Given the description of an element on the screen output the (x, y) to click on. 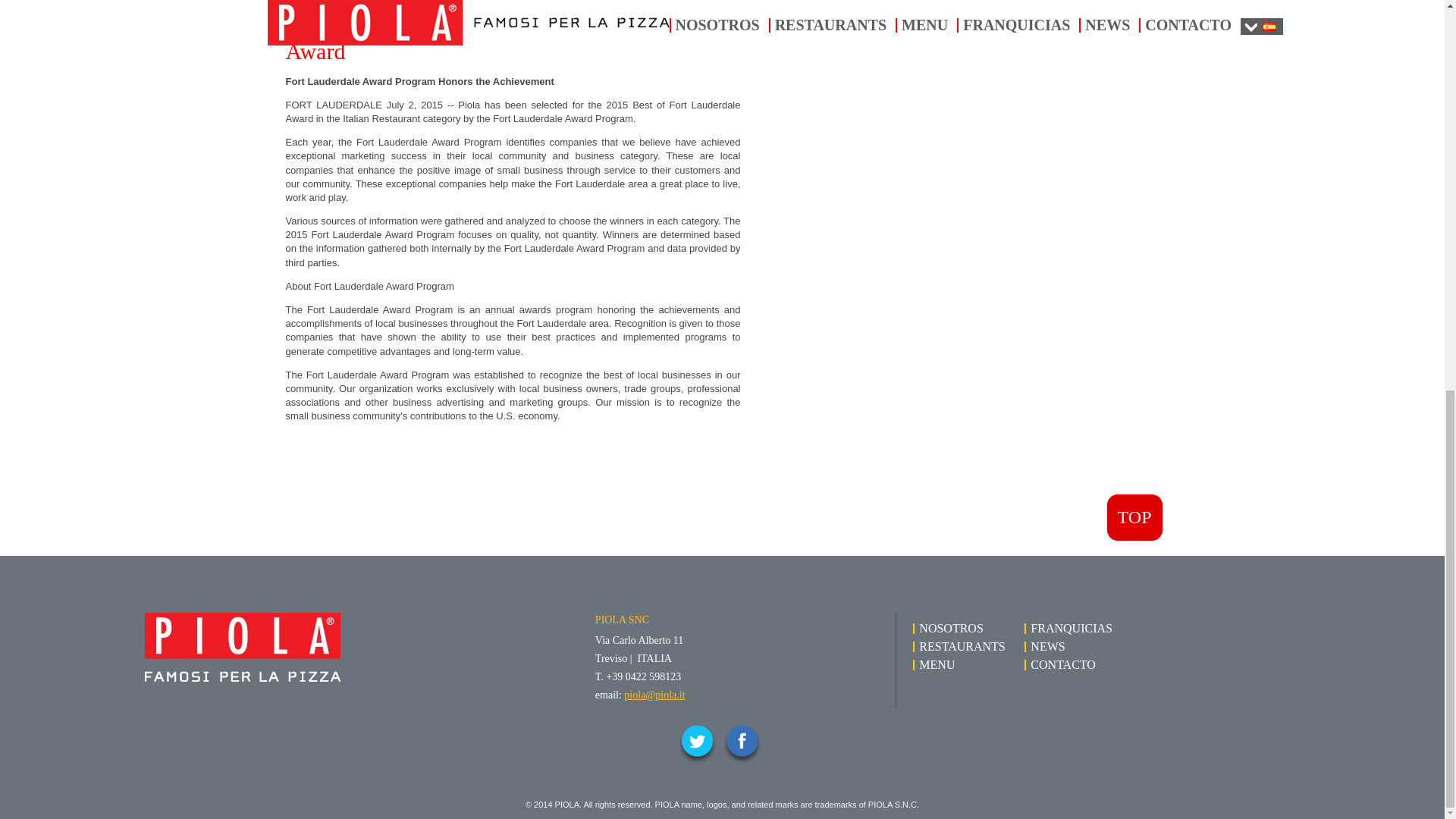
RESTAURANTS (959, 645)
TOP (1133, 517)
FRANQUICIAS (1069, 627)
Menu (934, 664)
NEWS (1045, 645)
TOP (1133, 517)
Twitter (697, 743)
PIOLA Famosi per la Pizza (331, 646)
RESTAURANTS (959, 645)
NOSOTROS (948, 627)
FRANQUICIAS (1069, 627)
CONTACTO (1061, 664)
MENU (934, 664)
PIOLA Famosi per la Pizza (331, 646)
Twitter (697, 743)
